Given the description of an element on the screen output the (x, y) to click on. 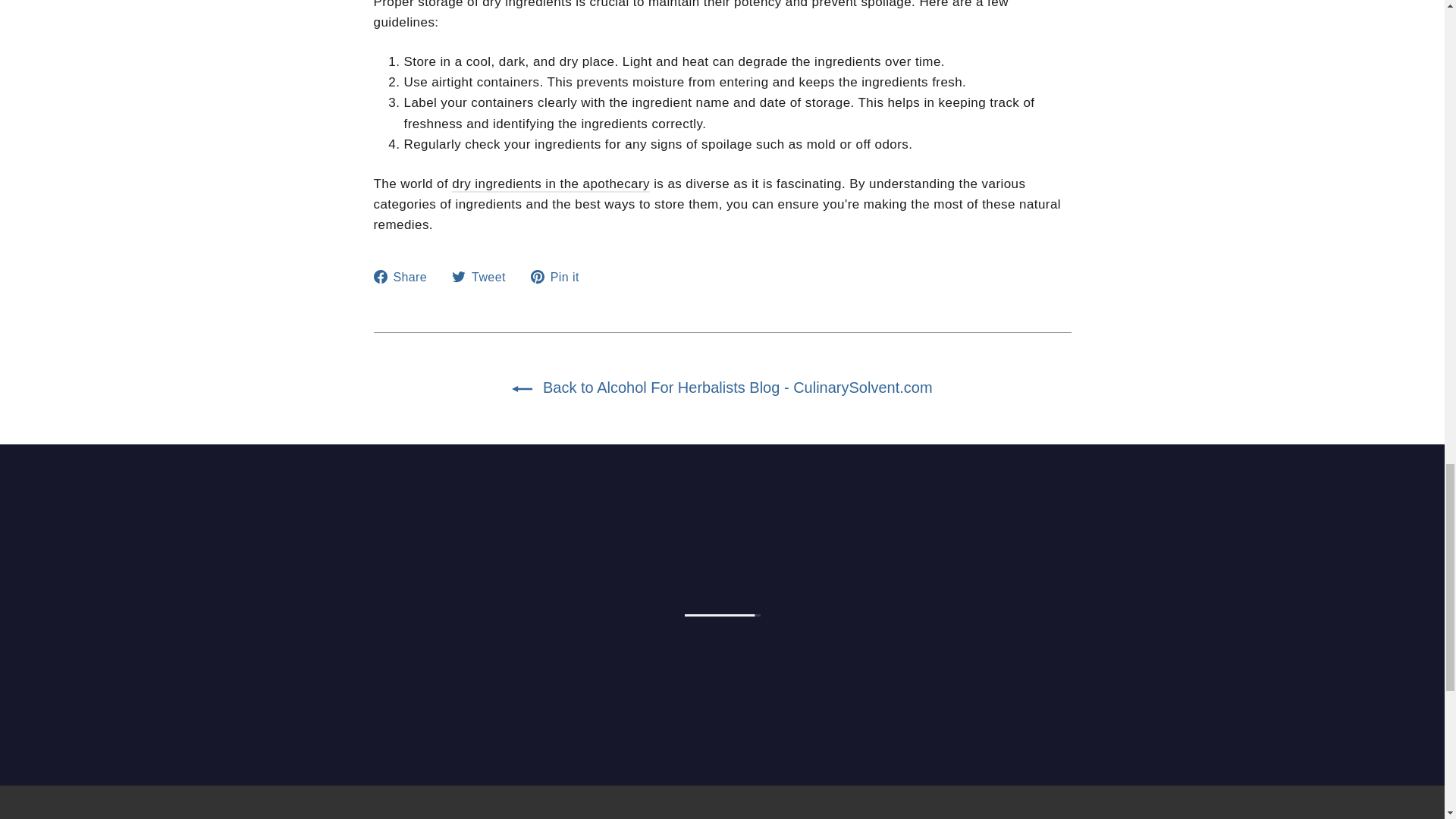
Buy pure food grade alcohol at CulinarySolvent.com (550, 184)
Share on Facebook (405, 276)
Pin on Pinterest (561, 276)
Tweet on Twitter (483, 276)
